Given the description of an element on the screen output the (x, y) to click on. 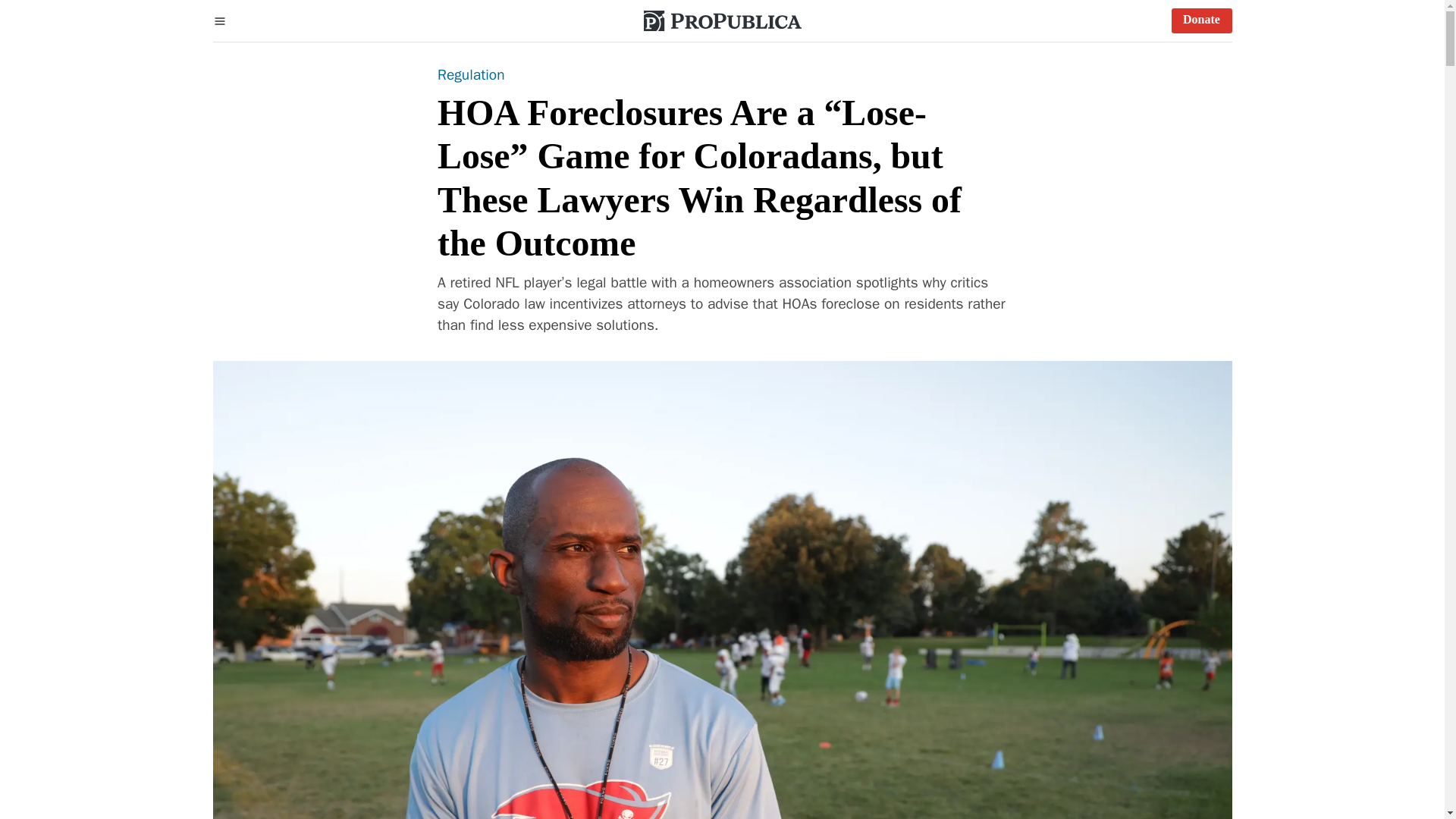
Donate (1200, 20)
Skip to content (22, 22)
Menu (220, 20)
Regulation (471, 75)
